Given the description of an element on the screen output the (x, y) to click on. 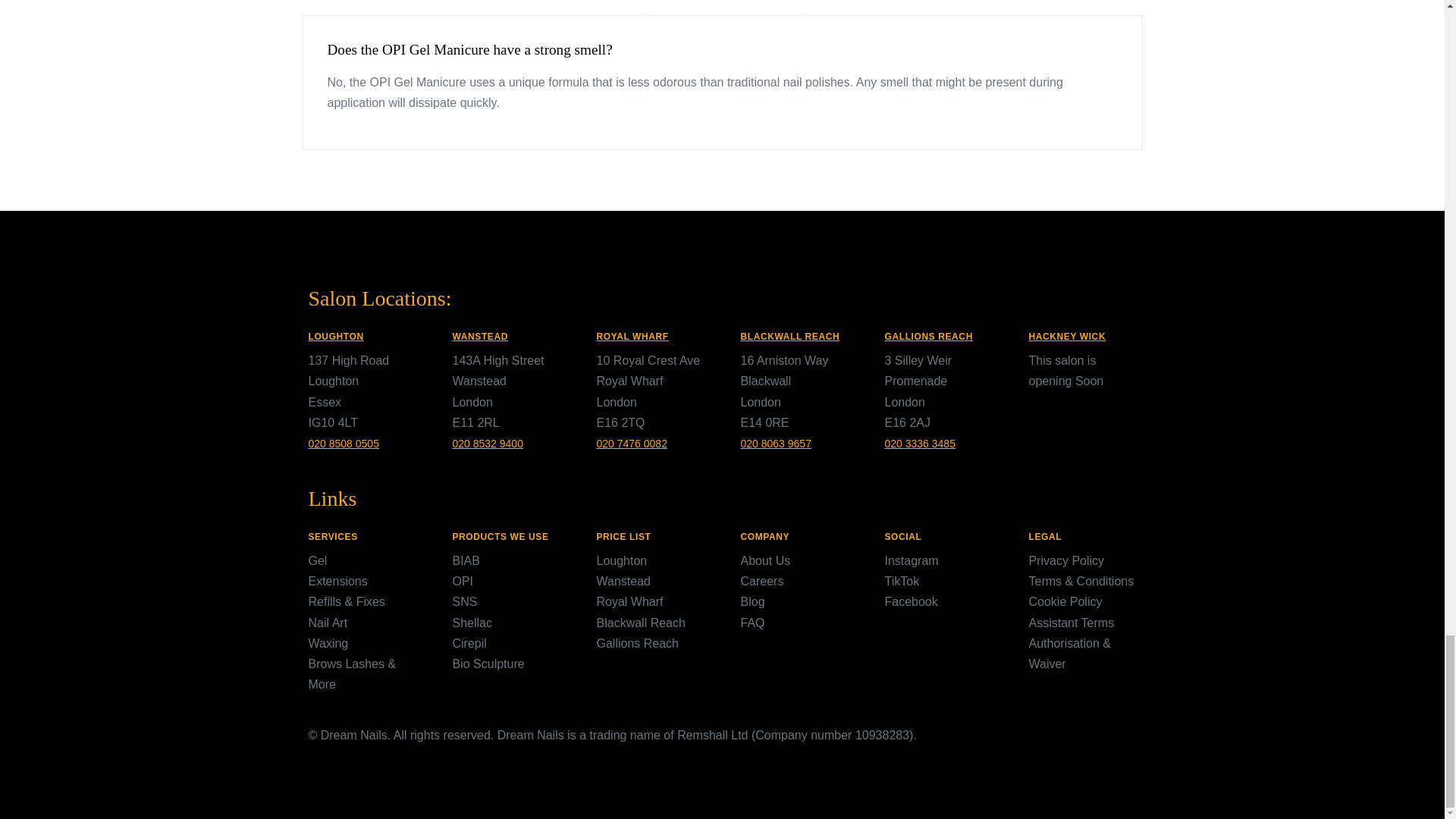
BLACKWALL REACH (789, 336)
Gel (316, 560)
HACKNEY WICK (1066, 336)
020 8532 9400 (486, 443)
Extensions (336, 581)
OPI (462, 581)
WANSTEAD (478, 336)
Wanstead (622, 581)
LOUGHTON (334, 336)
Bio Sculpture (487, 663)
Shellac (471, 622)
Nail Art (327, 622)
020 8063 9657 (774, 443)
Cirepil (468, 643)
Loughton (620, 560)
